Given the description of an element on the screen output the (x, y) to click on. 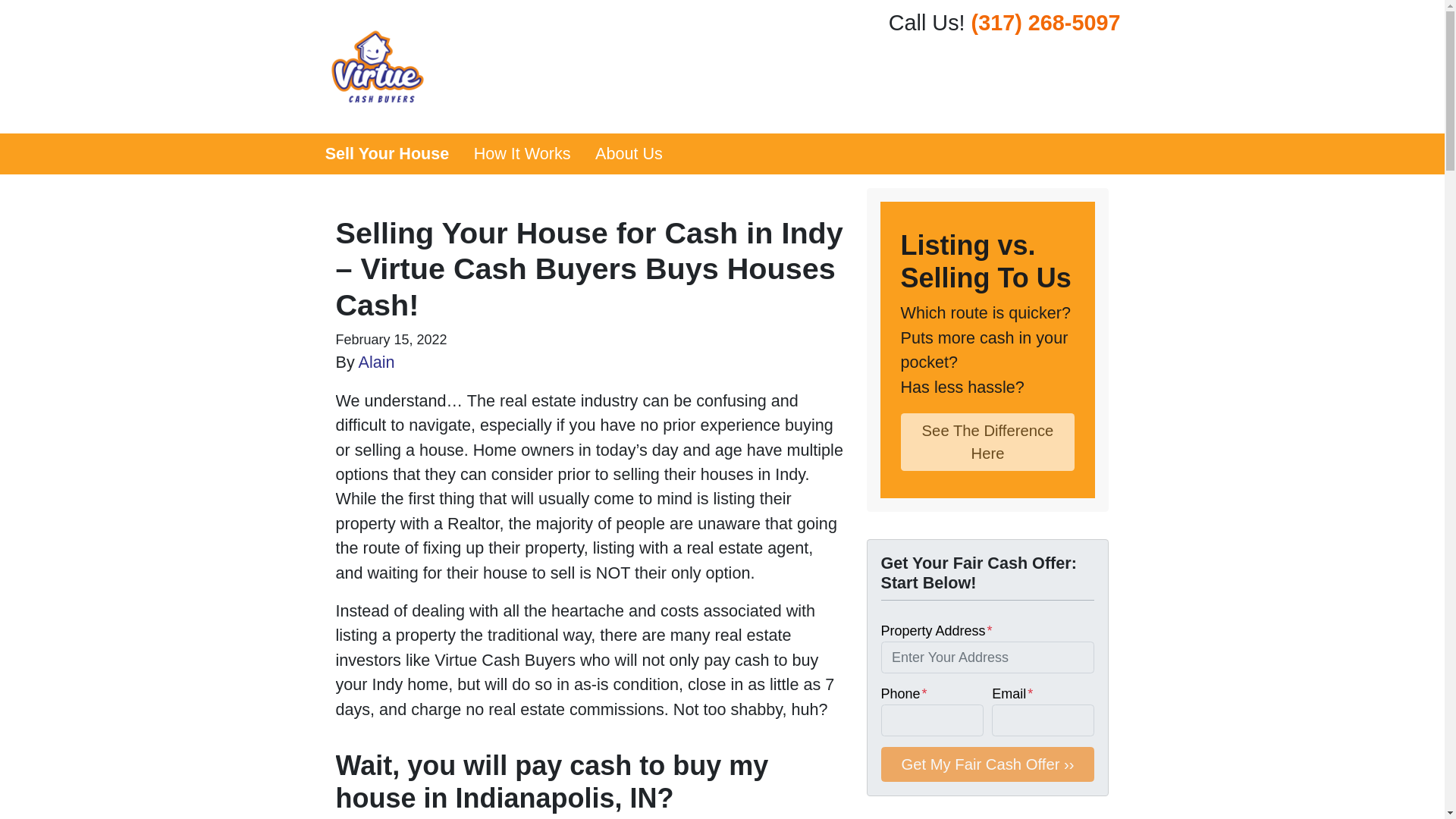
Alain (376, 361)
Sell Your House (387, 153)
How It Works (521, 153)
Sell Your House (387, 153)
See The Difference Here (988, 441)
How It Works (521, 153)
About Us (629, 153)
About Us (629, 153)
